Given the description of an element on the screen output the (x, y) to click on. 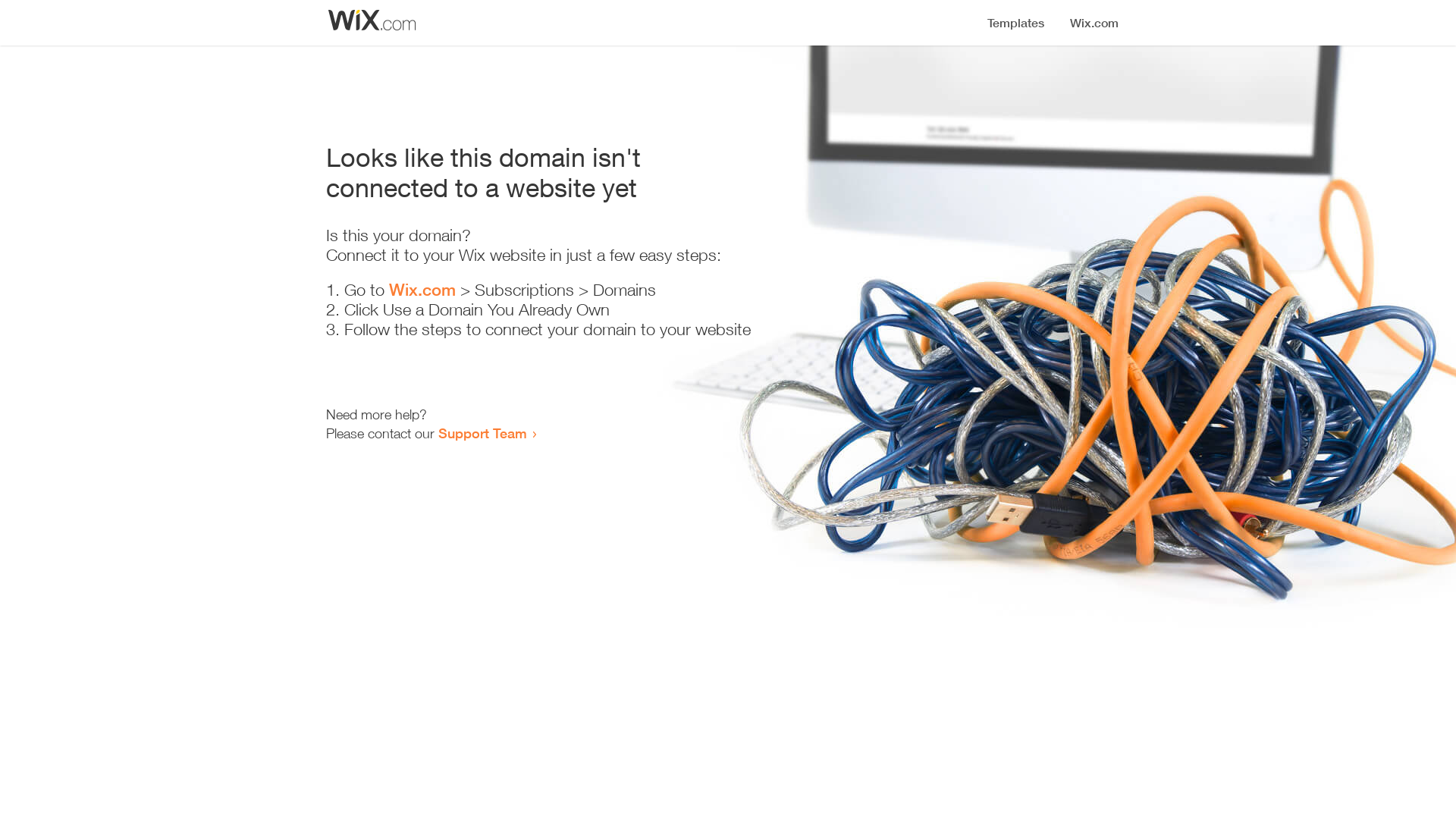
Wix.com Element type: text (422, 289)
Support Team Element type: text (482, 432)
